Given the description of an element on the screen output the (x, y) to click on. 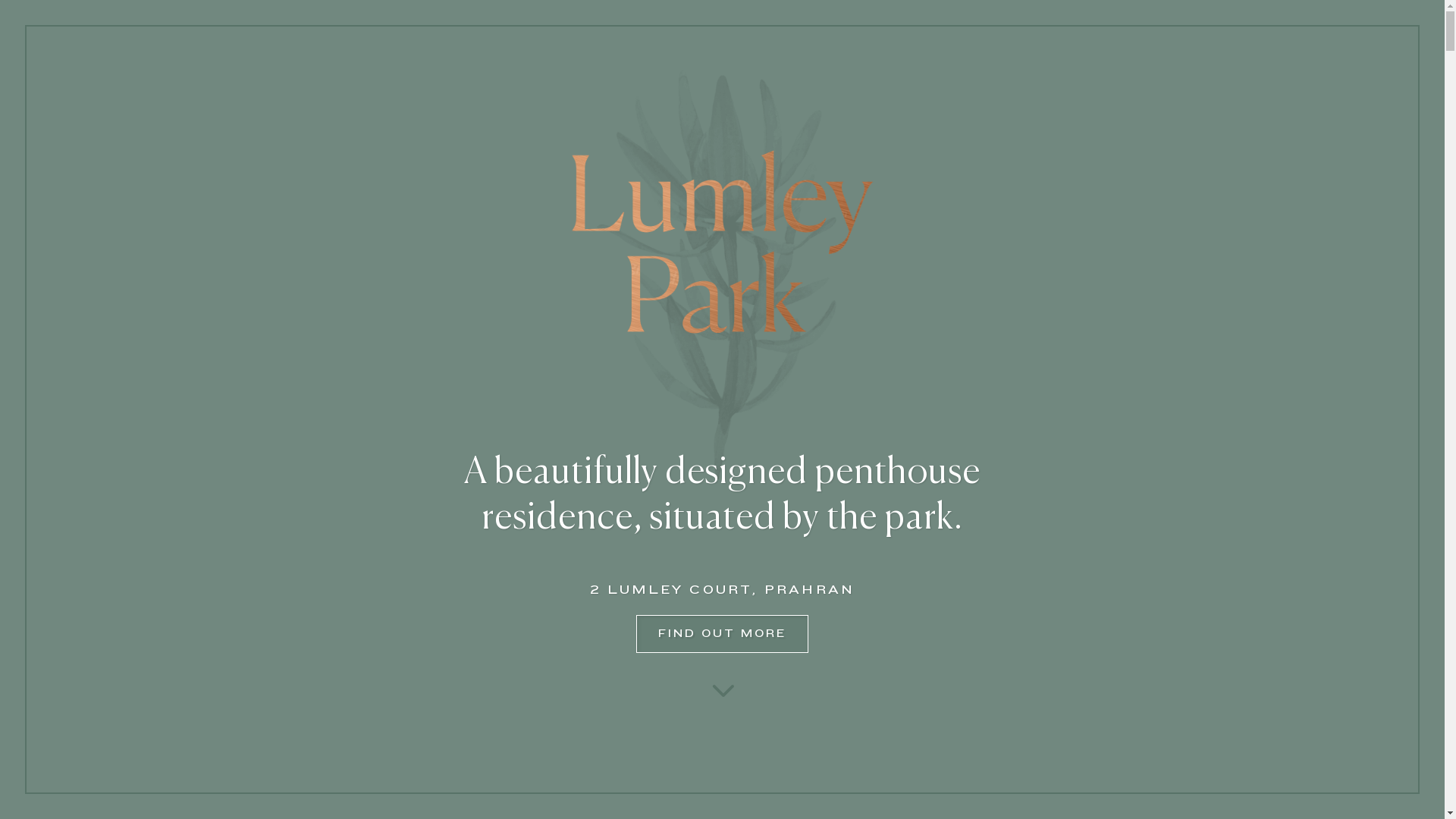
FIND OUT MORE Element type: text (721, 633)
2 LUMLEY COURT, PRAHRAN Element type: text (722, 589)
3 Element type: text (721, 688)
